Given the description of an element on the screen output the (x, y) to click on. 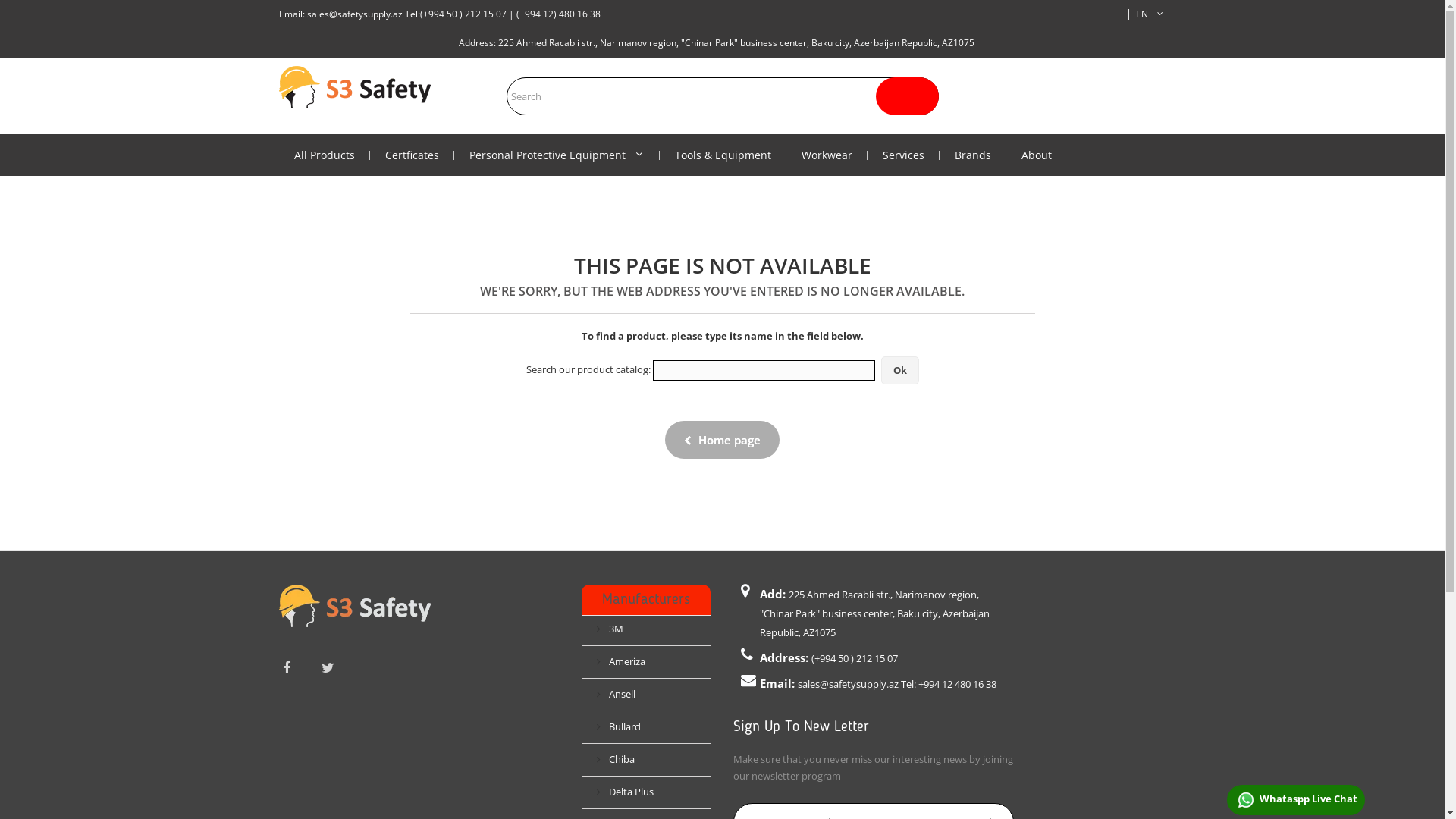
Tools & Equipment Element type: text (722, 154)
Workwear Element type: text (825, 154)
Whataspp Live Chat Element type: text (1295, 799)
Bullard Element type: text (618, 726)
sales@safetysupply.az Tel: +994 12 480 16 38 Element type: text (896, 683)
S3safety Element type: hover (354, 86)
Brands Element type: text (971, 154)
Delta Plus Element type: text (624, 791)
Chiba Element type: text (615, 758)
Certficates Element type: text (412, 154)
Ansell Element type: text (615, 693)
Personal Protective Equipment Element type: text (555, 154)
All Products Element type: text (324, 154)
Home page Element type: text (722, 439)
Services Element type: text (903, 154)
Manufacturers Element type: text (646, 599)
Ameriza Element type: text (620, 661)
Ok Element type: text (900, 370)
About Element type: text (1035, 154)
3M Element type: text (609, 628)
